Given the description of an element on the screen output the (x, y) to click on. 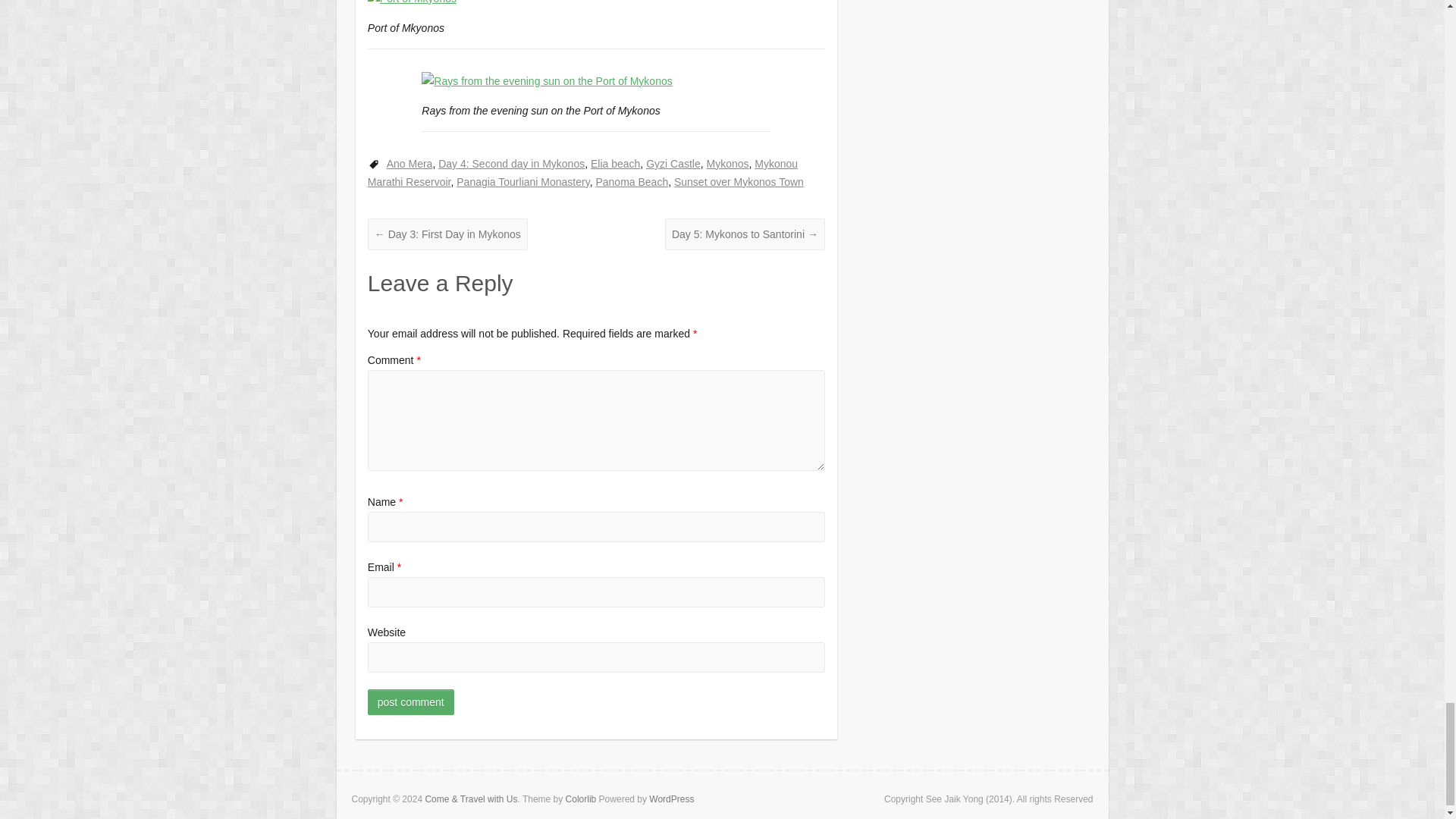
Post Comment (411, 701)
WordPress (671, 798)
Colorlib (581, 798)
